Given the description of an element on the screen output the (x, y) to click on. 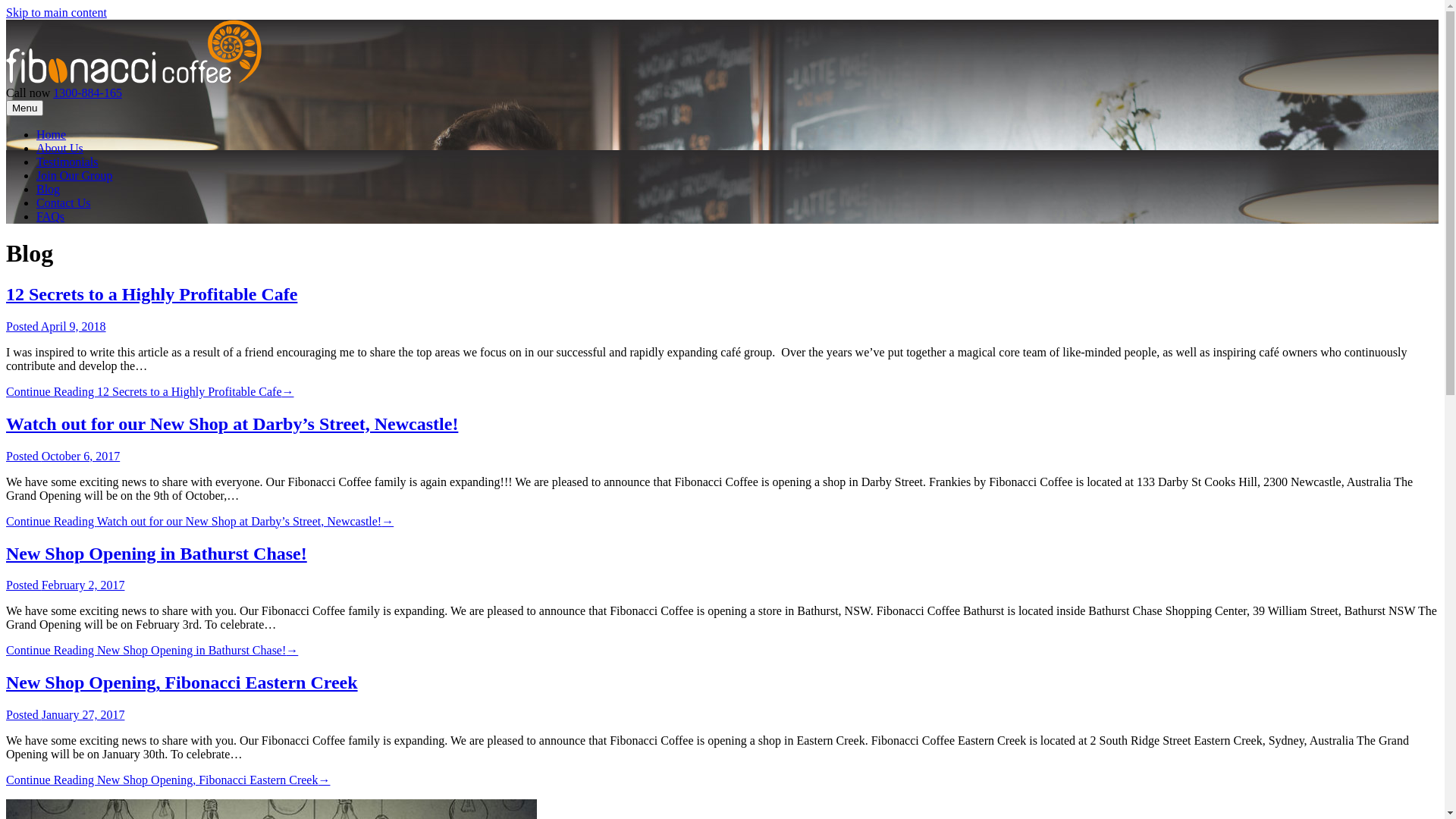
About Us Element type: text (59, 147)
Return to homepage Element type: hover (133, 78)
Contact Us Element type: text (63, 202)
Blog Element type: text (47, 188)
New Shop Opening, Fibonacci Eastern Creek Element type: text (181, 682)
Menu Element type: text (24, 108)
Testimonials Element type: text (67, 161)
Skip to main content Element type: text (56, 12)
Posted October 6, 2017 Element type: text (62, 455)
Home Element type: text (50, 134)
12 Secrets to a Highly Profitable Cafe Element type: text (151, 294)
FAQs Element type: text (50, 216)
New Shop Opening in Bathurst Chase! Element type: text (156, 552)
1300-884-165 Element type: text (87, 92)
Posted February 2, 2017 Element type: text (65, 584)
Join Our Group Element type: text (74, 175)
Posted April 9, 2018 Element type: text (56, 326)
Posted January 27, 2017 Element type: text (65, 714)
